Given the description of an element on the screen output the (x, y) to click on. 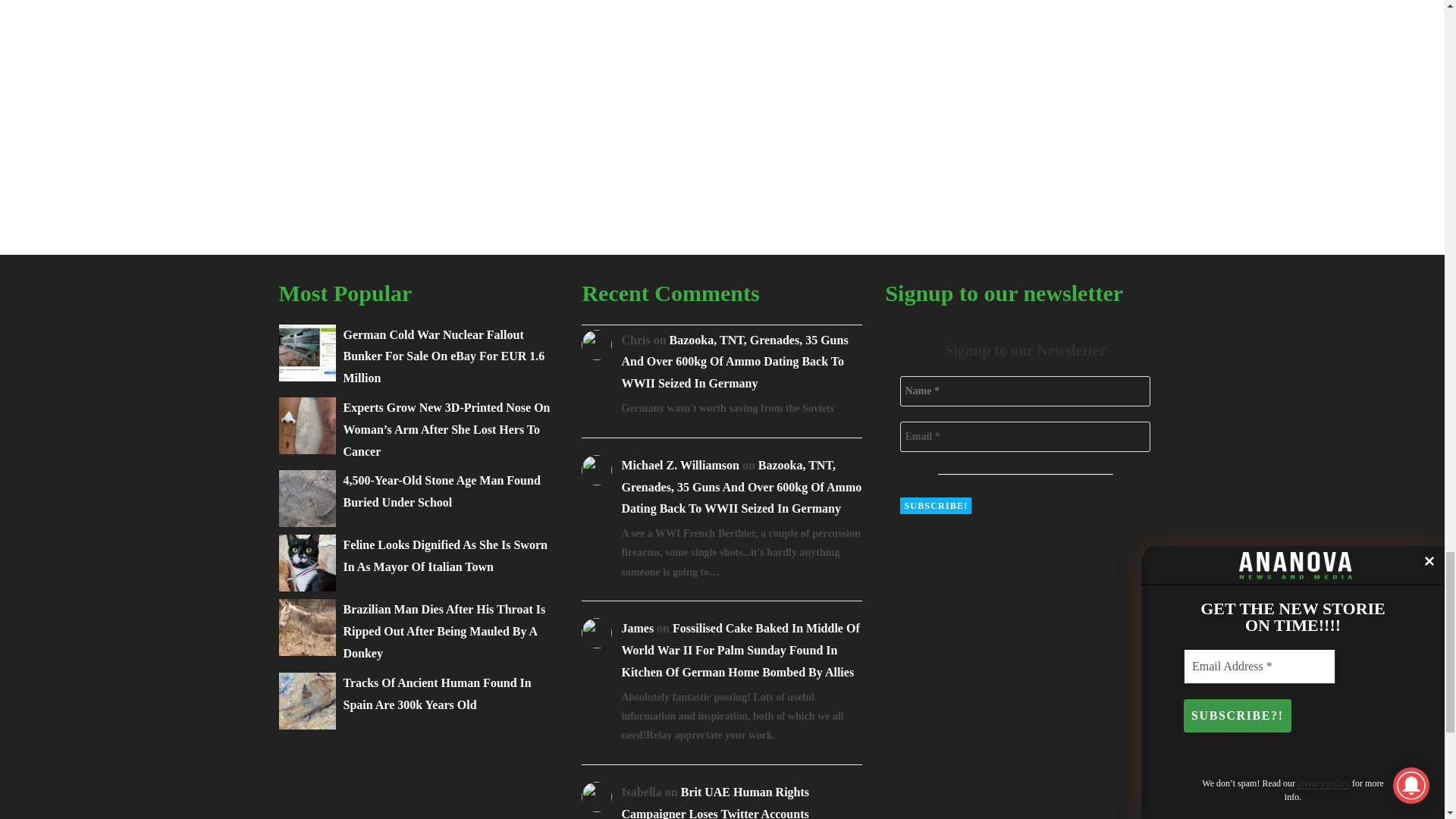
Subscribe! (935, 505)
Email (1024, 436)
Name (1024, 390)
